Given the description of an element on the screen output the (x, y) to click on. 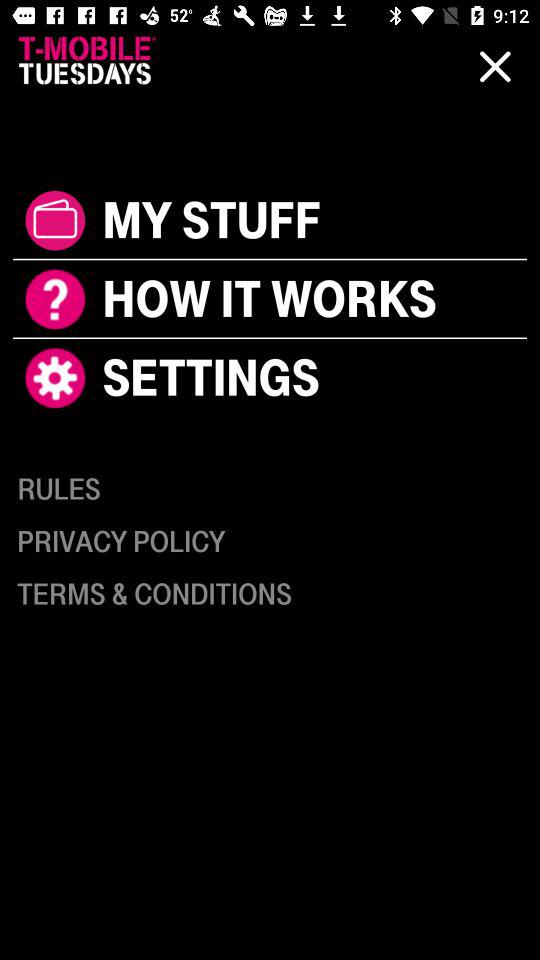
select close icon (495, 78)
click the close icon (495, 67)
